Given the description of an element on the screen output the (x, y) to click on. 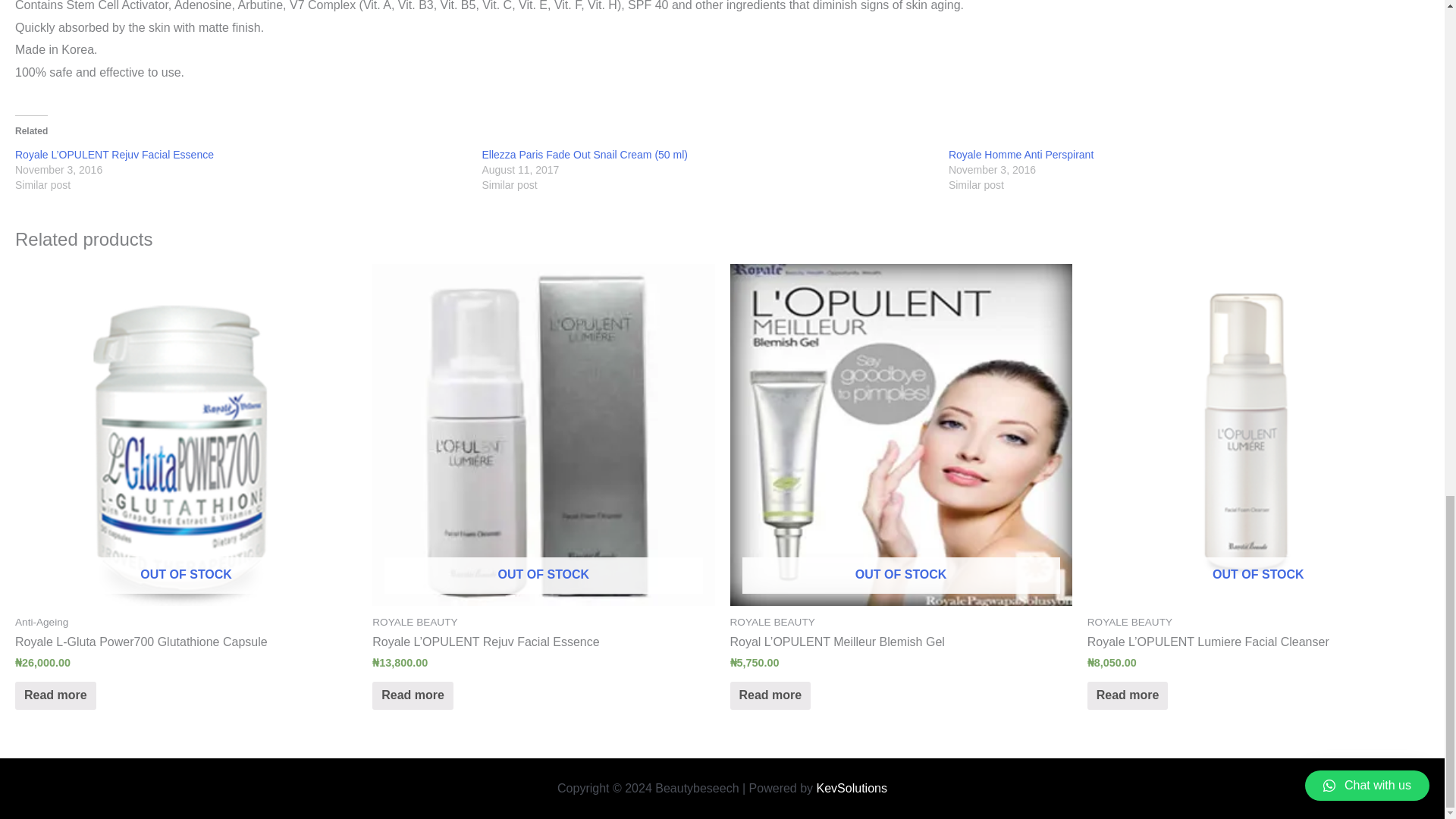
Royale Homme Anti Perspirant (1021, 154)
